Given the description of an element on the screen output the (x, y) to click on. 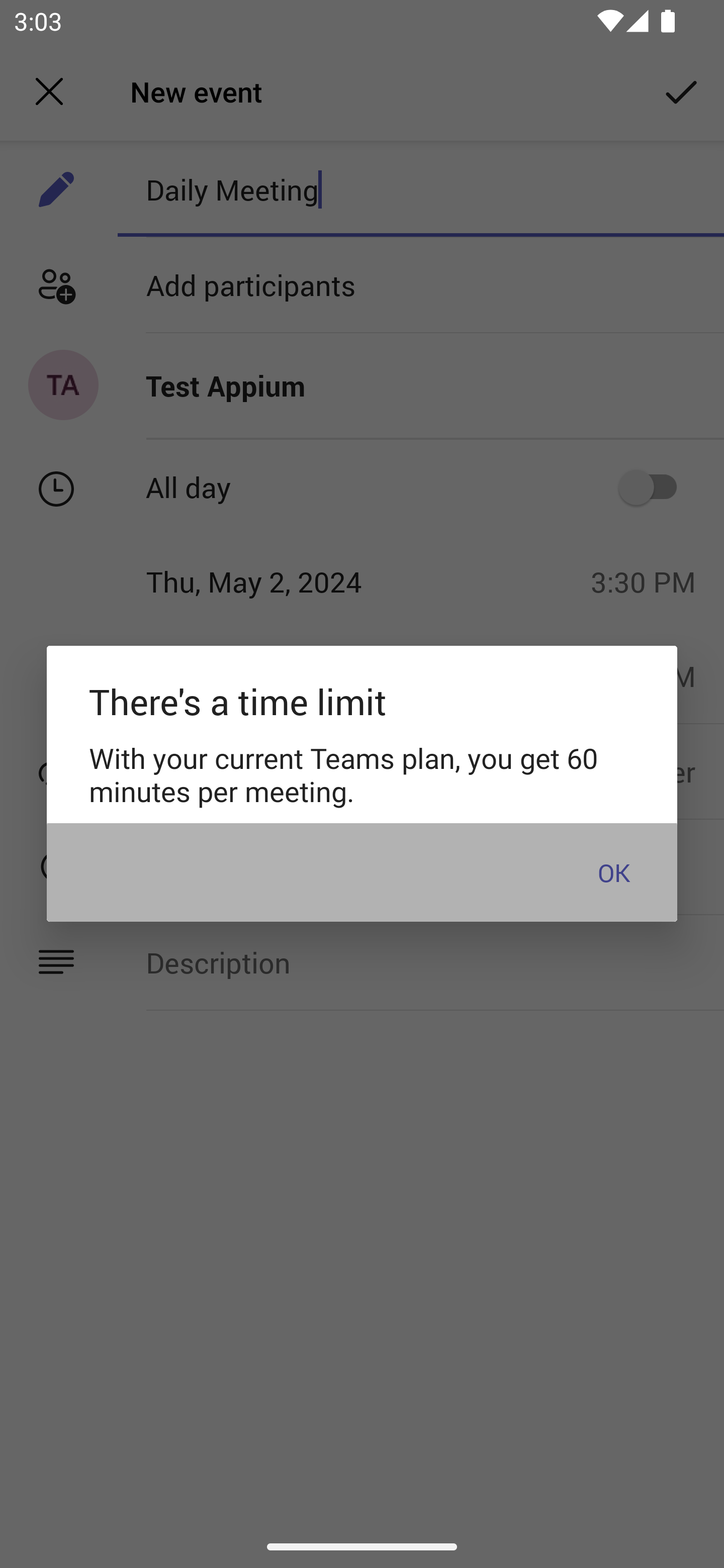
OK (613, 871)
